Given the description of an element on the screen output the (x, y) to click on. 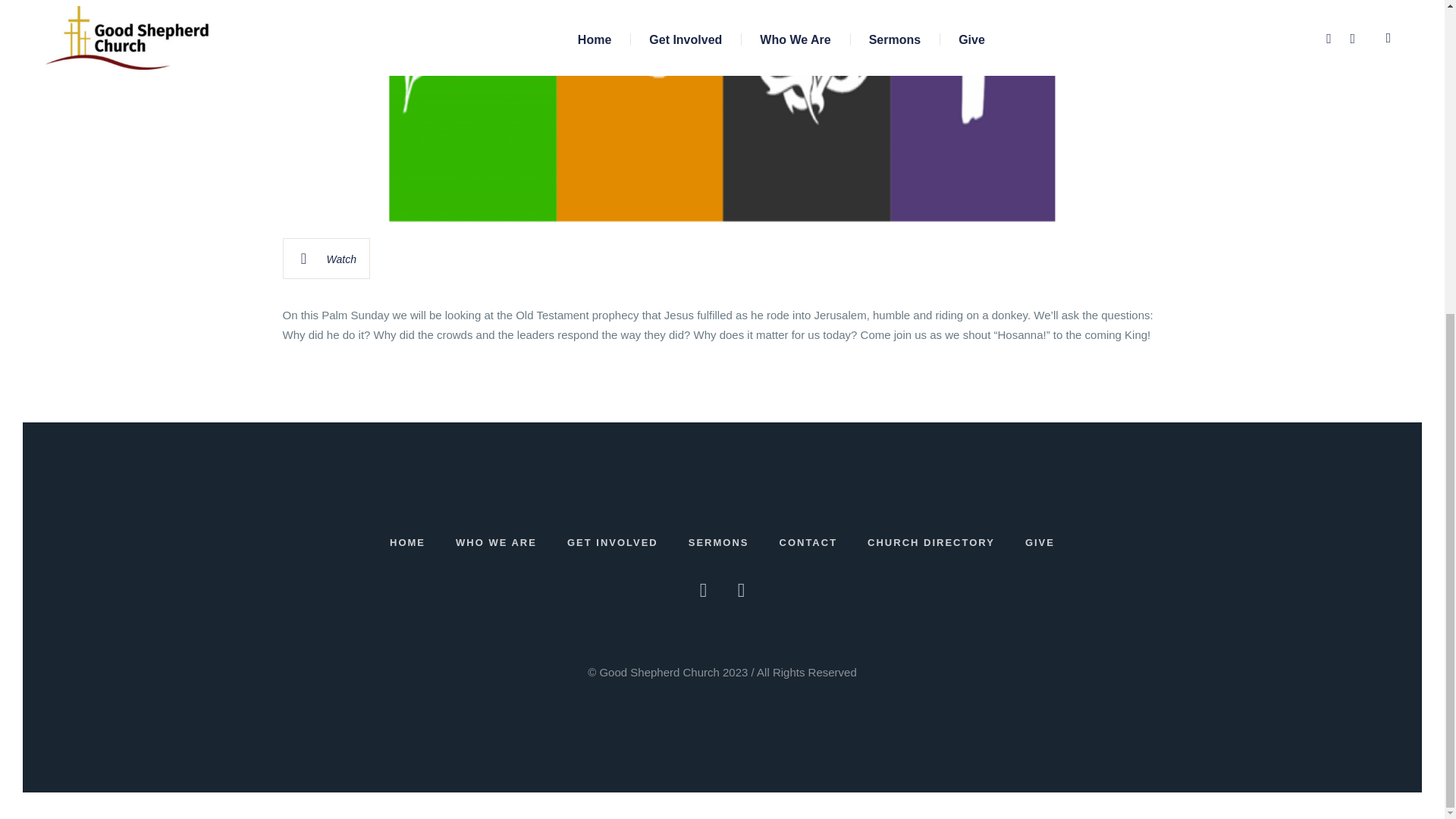
GIVE (1039, 542)
CHURCH DIRECTORY (930, 542)
CONTACT (808, 542)
Watch (325, 258)
GET INVOLVED (612, 542)
WHO WE ARE (496, 542)
YouTube (741, 590)
Facebook (702, 590)
HOME (407, 542)
SERMONS (718, 542)
